Given the description of an element on the screen output the (x, y) to click on. 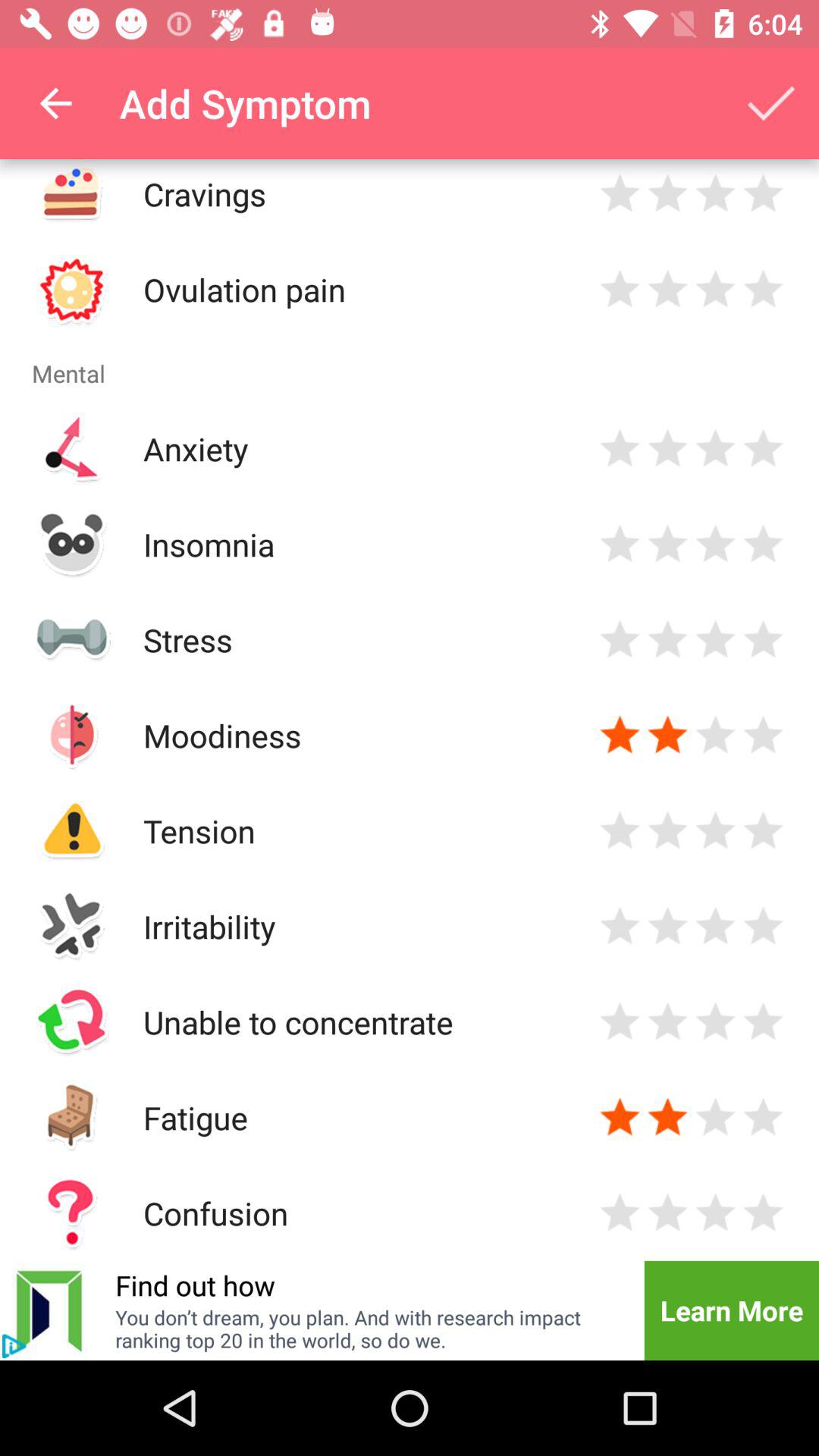
rank moodiness four stars out of four (763, 735)
